Given the description of an element on the screen output the (x, y) to click on. 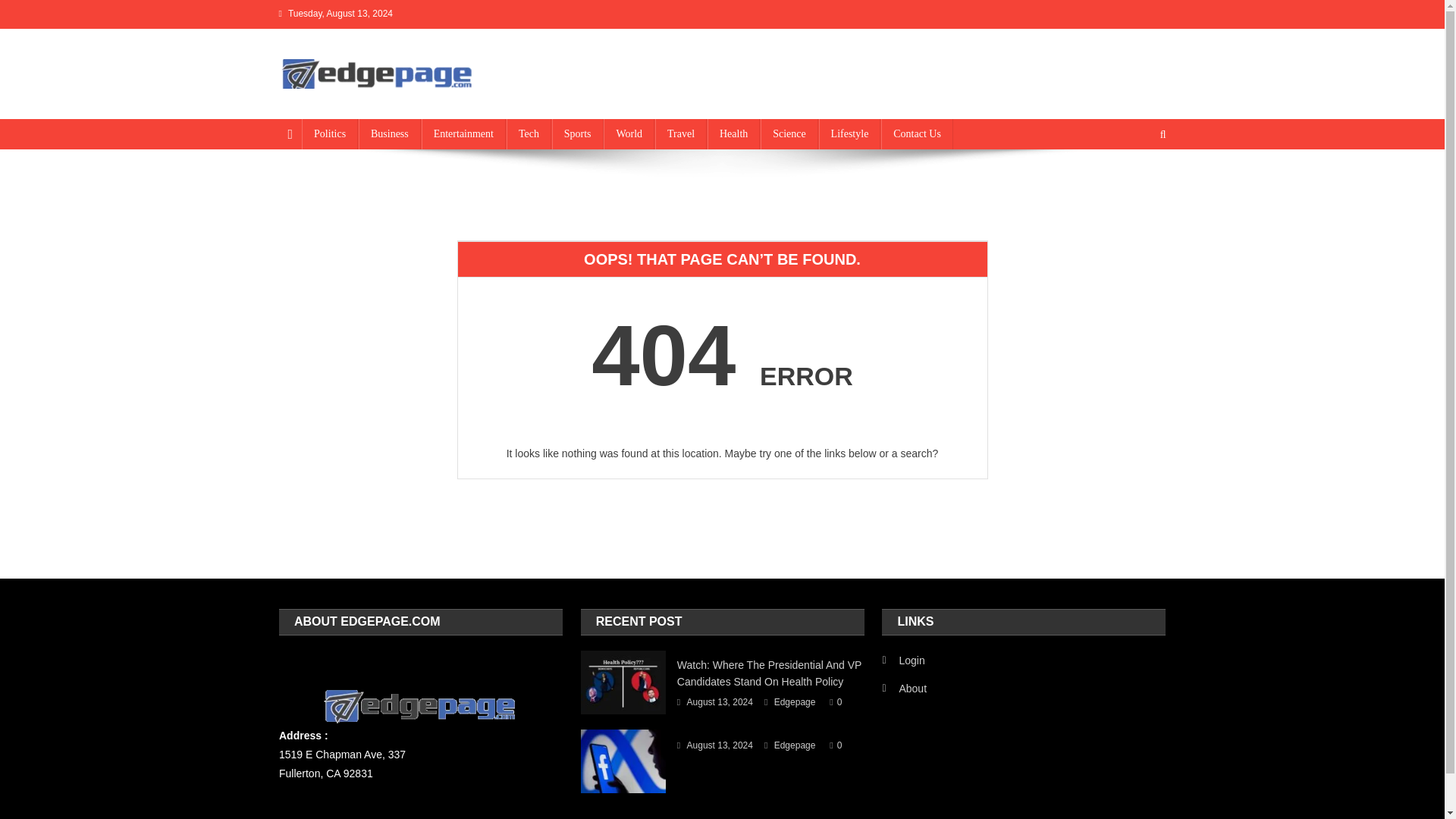
Login (903, 660)
World (628, 133)
Search (1133, 185)
About (904, 688)
Contact Us (916, 133)
Tech (528, 133)
August 13, 2024 (719, 745)
Entertainment (463, 133)
Edgepage (794, 745)
